Given the description of an element on the screen output the (x, y) to click on. 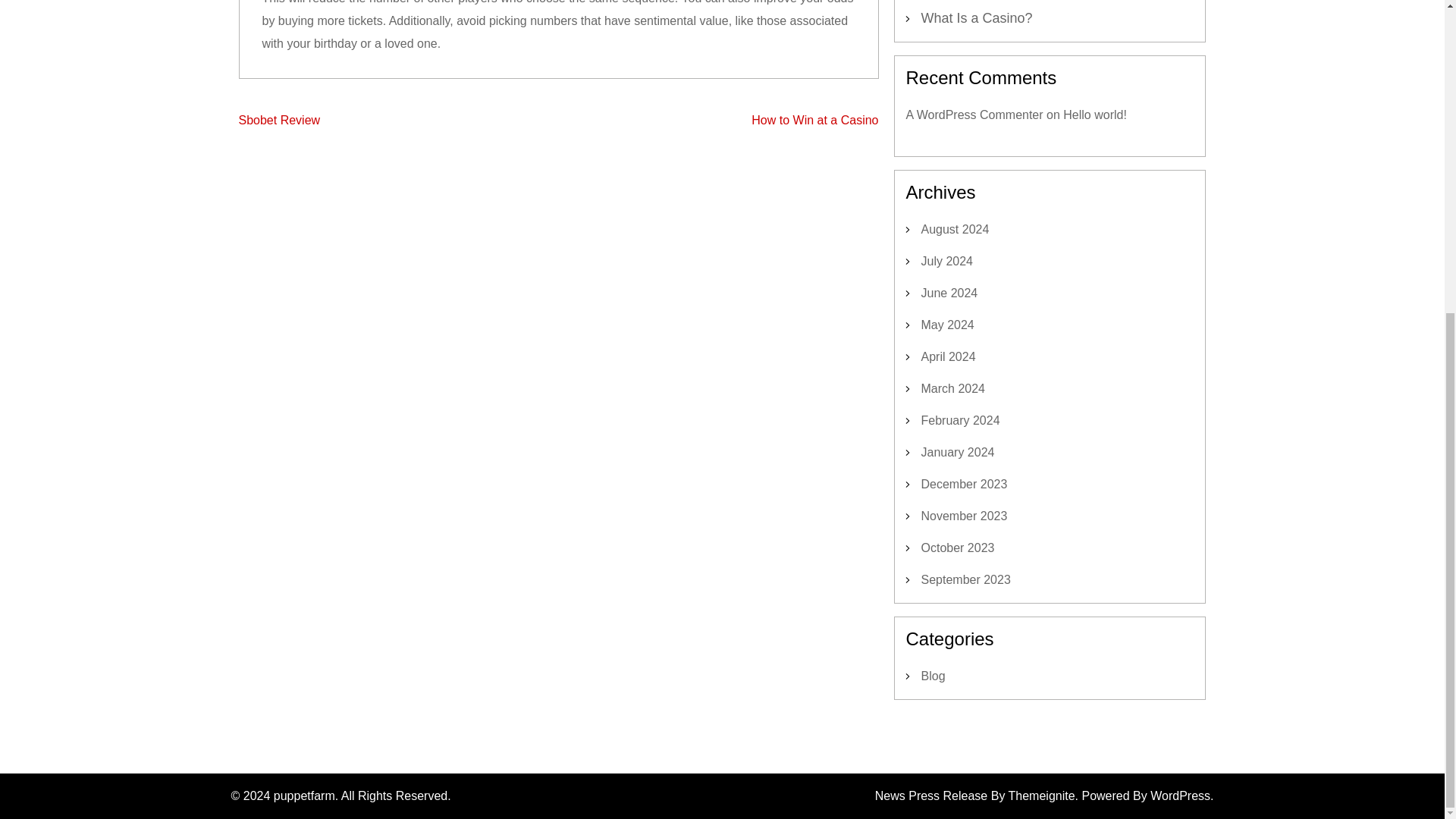
WordPress (1179, 795)
October 2023 (957, 547)
September 2023 (965, 579)
January 2024 (957, 451)
July 2024 (946, 260)
December 2023 (963, 483)
April 2024 (947, 356)
Hello world! (1094, 114)
August 2024 (954, 228)
Blog (932, 675)
